Given the description of an element on the screen output the (x, y) to click on. 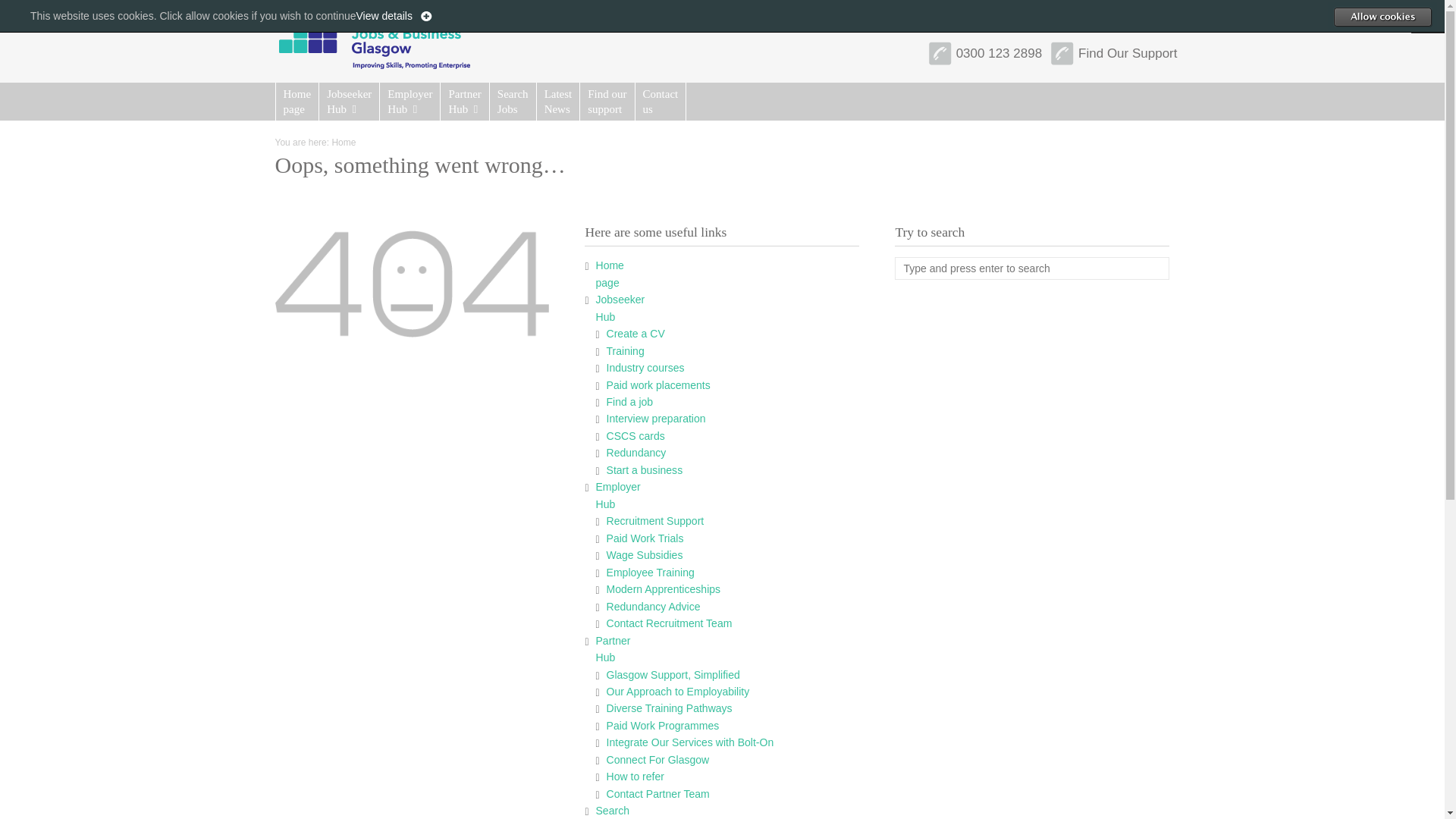
Our support (644, 469)
0300 123 2898 (659, 101)
Find Our Support (512, 101)
Create a CV and cover letter (999, 52)
